Given the description of an element on the screen output the (x, y) to click on. 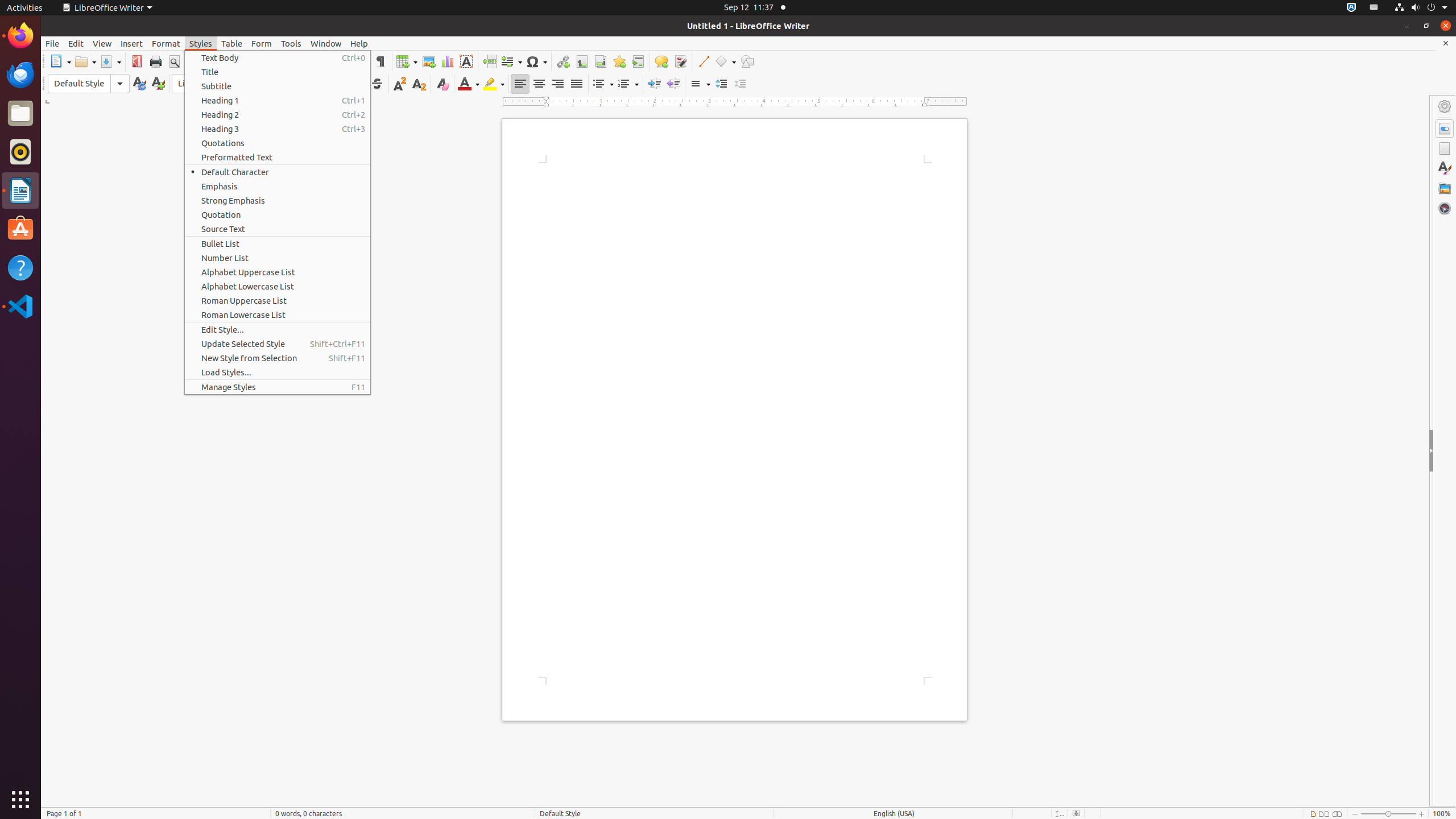
Numbering Element type: push-button (627, 83)
Edit Style... Element type: menu-item (277, 329)
Strong Emphasis Element type: radio-menu-item (277, 200)
Tools Element type: menu (290, 43)
Bullet List Element type: radio-menu-item (277, 243)
